Given the description of an element on the screen output the (x, y) to click on. 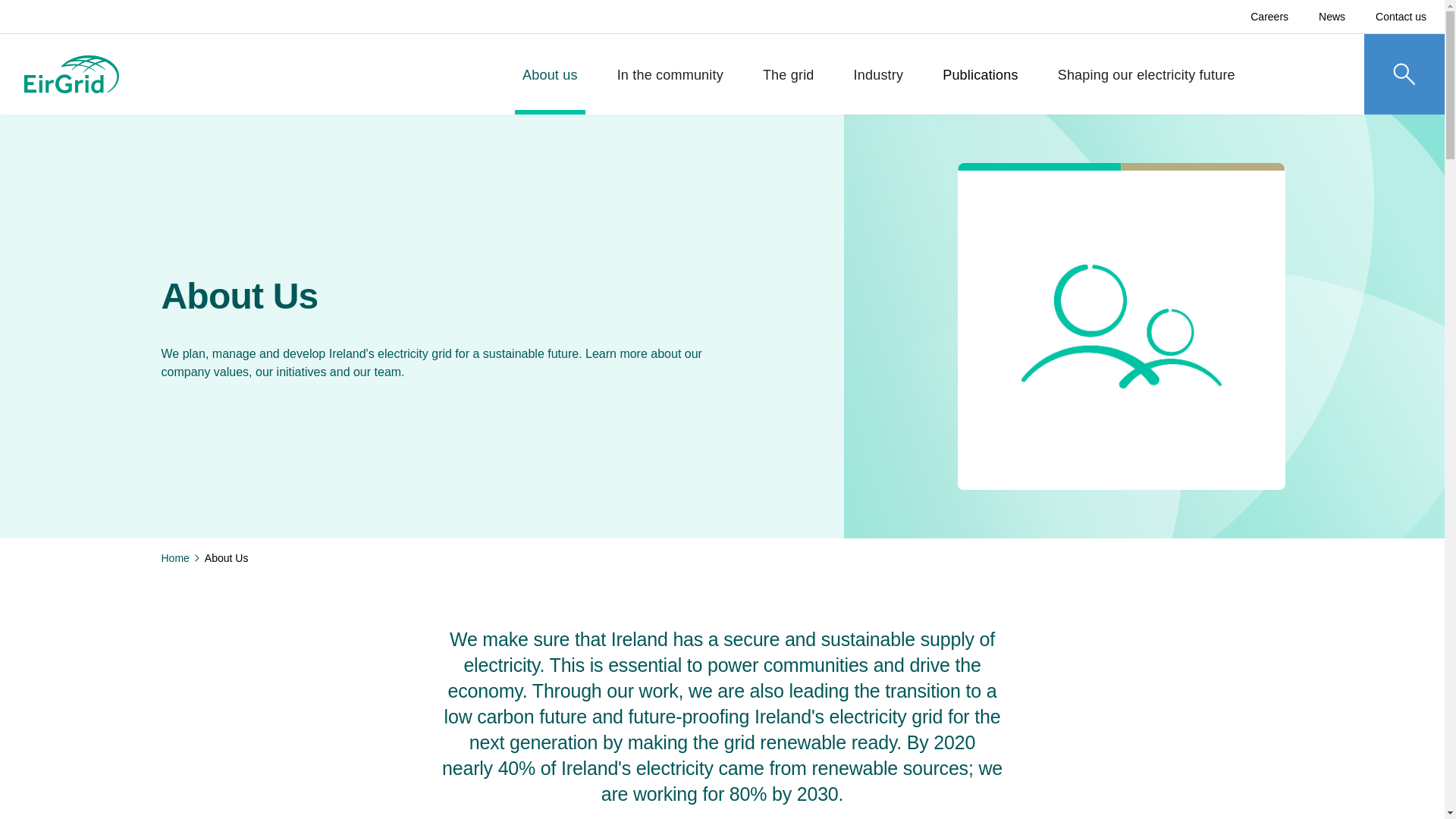
Contact us (1400, 16)
Home (174, 557)
Publications (979, 86)
Industry (878, 86)
The grid (788, 86)
Careers (1269, 16)
News (1332, 16)
About us (550, 86)
EirGrid (71, 74)
Shaping our electricity future (1146, 86)
button (40, 40)
In the community (670, 86)
